Given the description of an element on the screen output the (x, y) to click on. 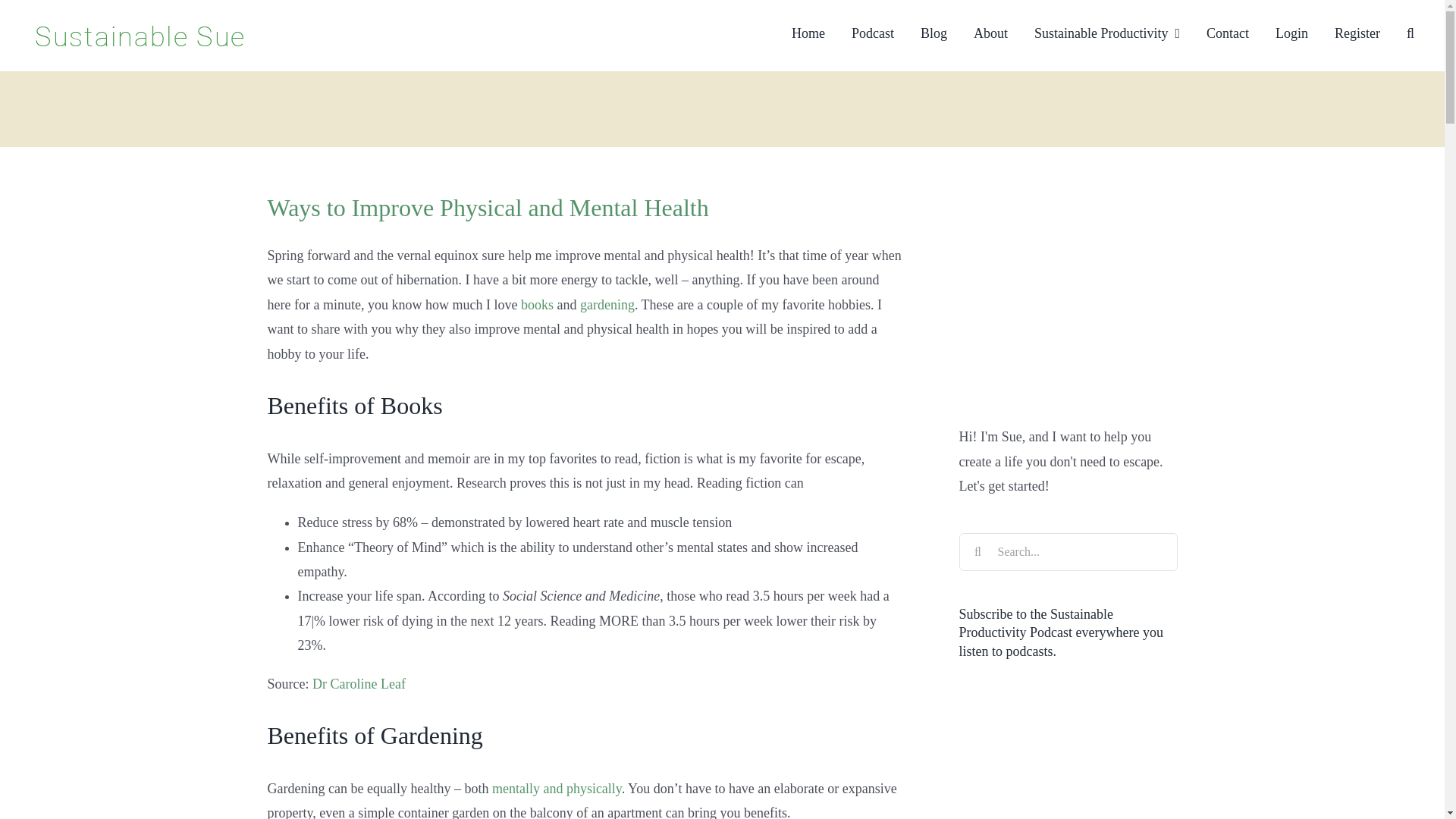
Ways to Improve Physical and Mental Health (486, 207)
Sustainable Productivity (1106, 31)
Dr Caroline Leaf (359, 683)
gardening (606, 304)
books (537, 304)
mentally and physically (556, 788)
